Given the description of an element on the screen output the (x, y) to click on. 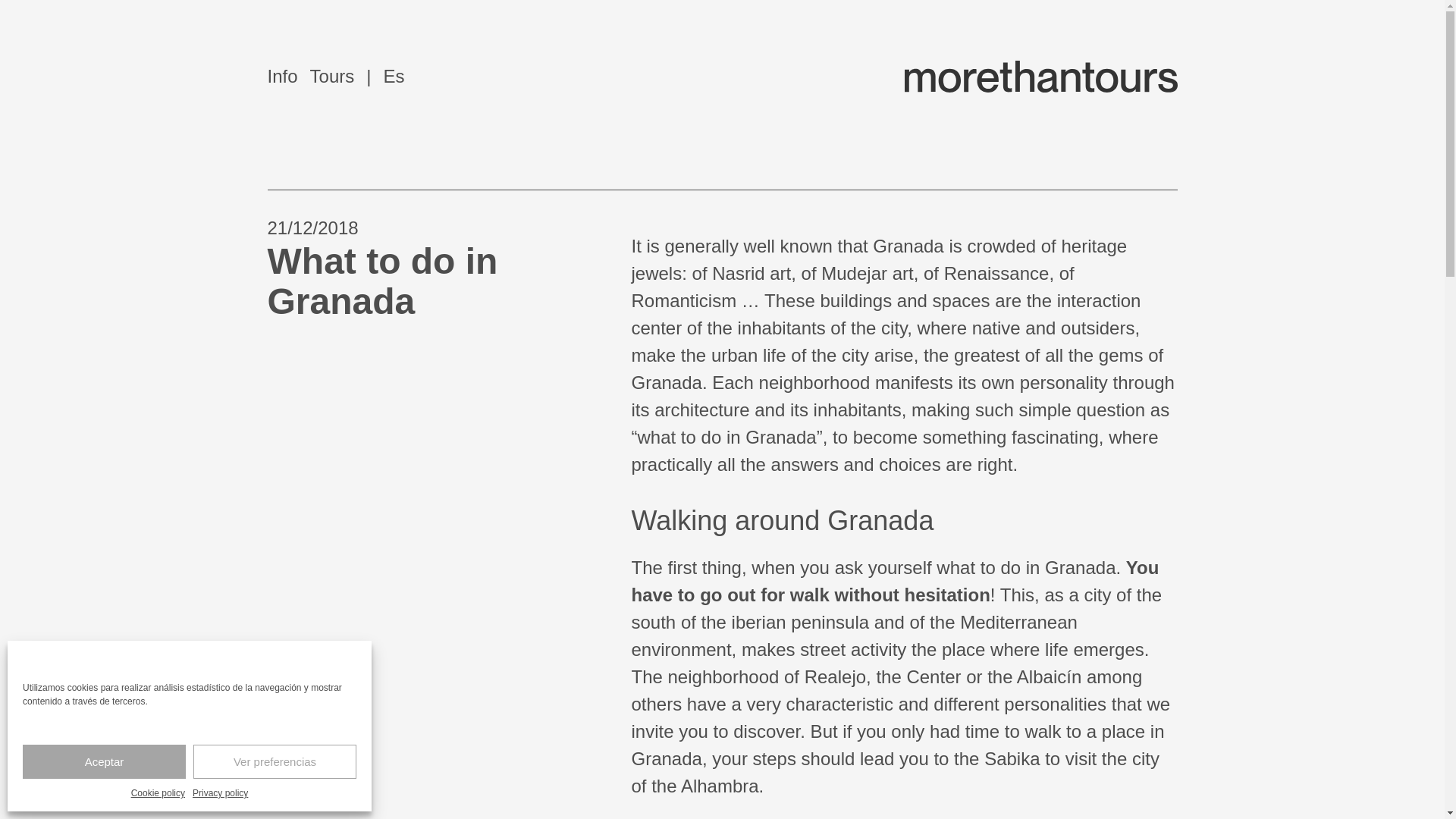
Es (385, 76)
Es (385, 76)
Tours (332, 76)
Cookie policy (157, 793)
Ver preferencias (274, 761)
Privacy policy (219, 793)
Info (281, 76)
Aceptar (104, 761)
